Given the description of an element on the screen output the (x, y) to click on. 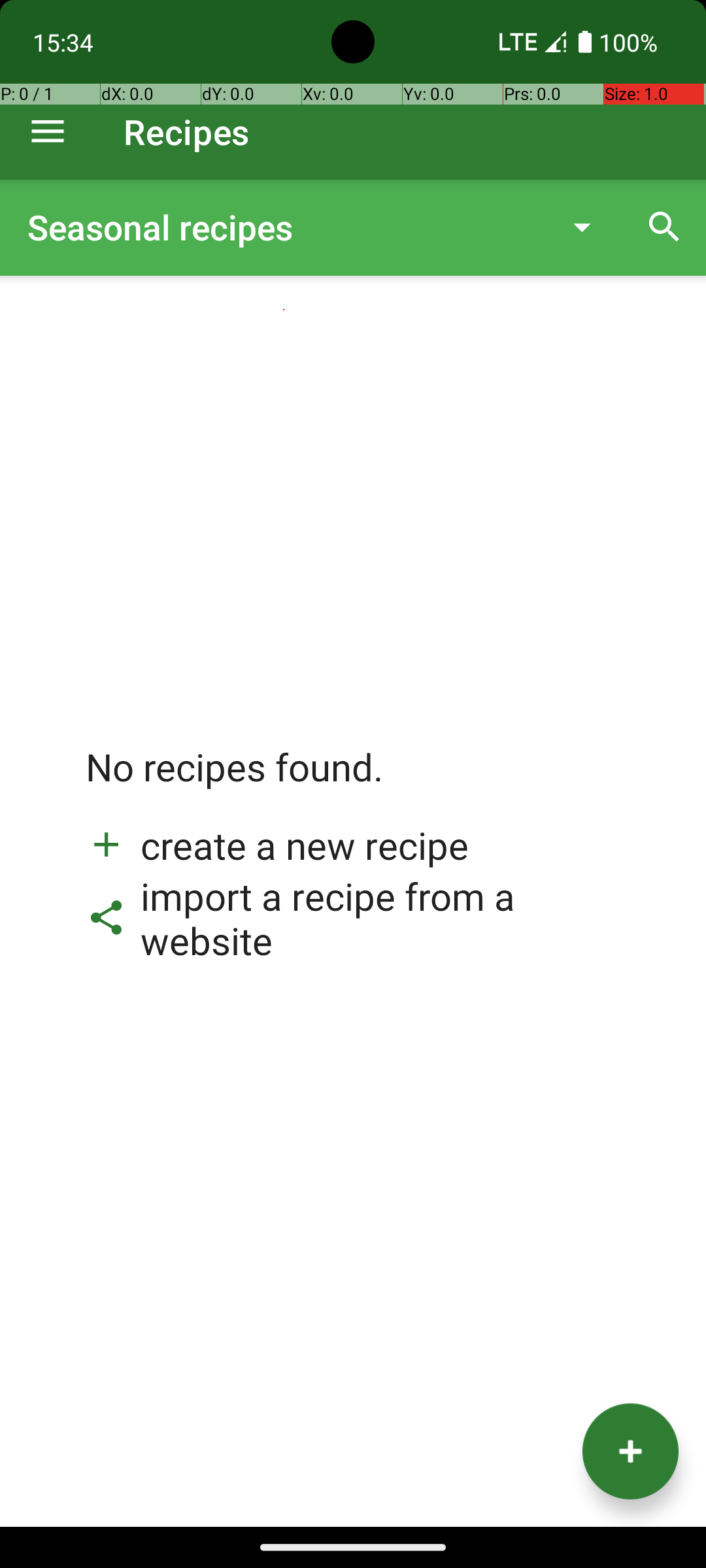
No recipes found. Element type: android.widget.TextView (234, 779)
create a new recipe Element type: android.widget.TextView (276, 844)
import a recipe from a website Element type: android.widget.TextView (352, 917)
